Given the description of an element on the screen output the (x, y) to click on. 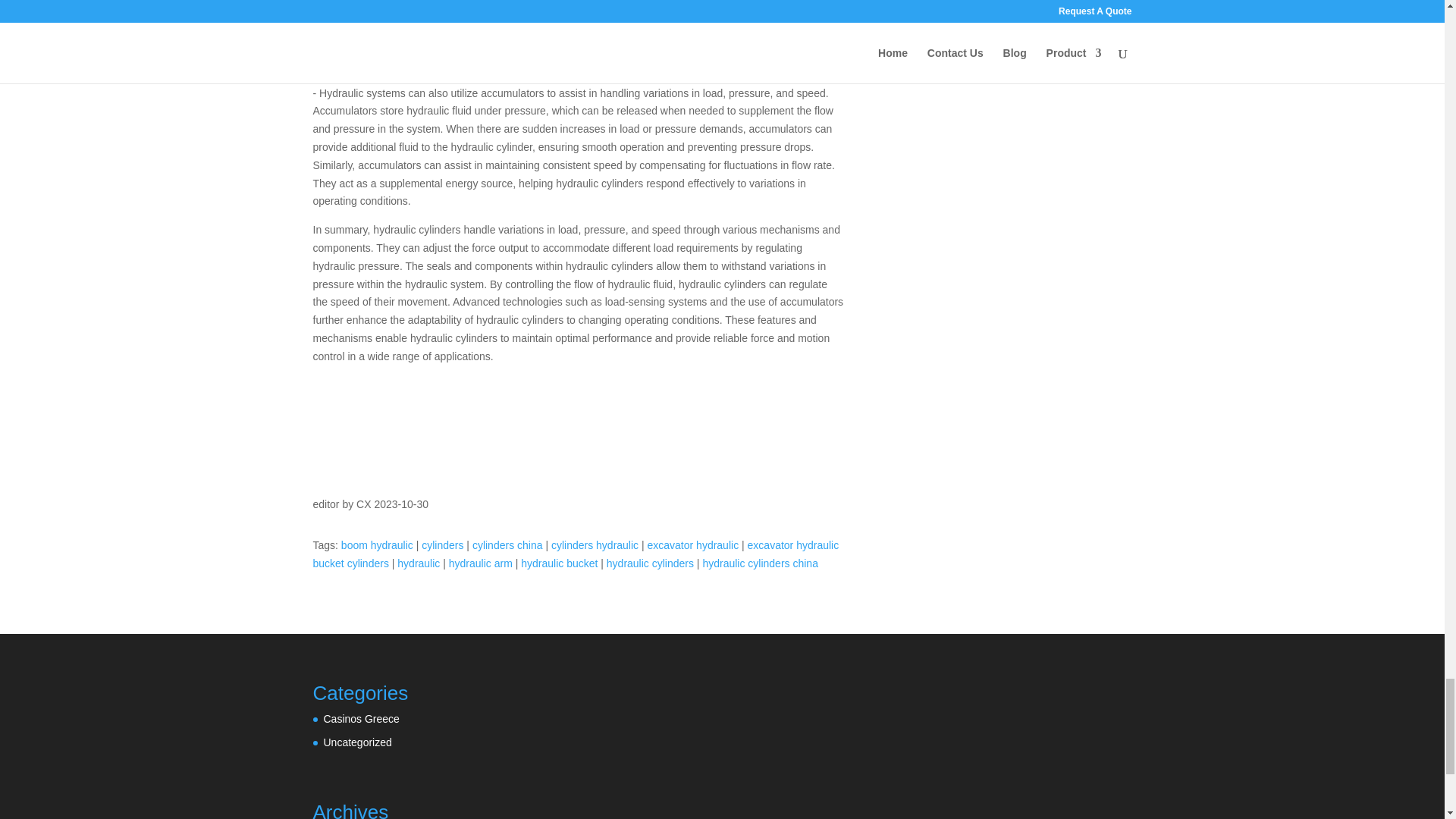
excavator hydraulic bucket cylinders (575, 553)
hydraulic cylinders (650, 563)
cylinders (442, 544)
hydraulic cylinders china (759, 563)
hydraulic (418, 563)
cylinders hydraulic (595, 544)
Uncategorized (357, 742)
hydraulic arm (480, 563)
excavator hydraulic (693, 544)
Casinos Greece (360, 718)
